Given the description of an element on the screen output the (x, y) to click on. 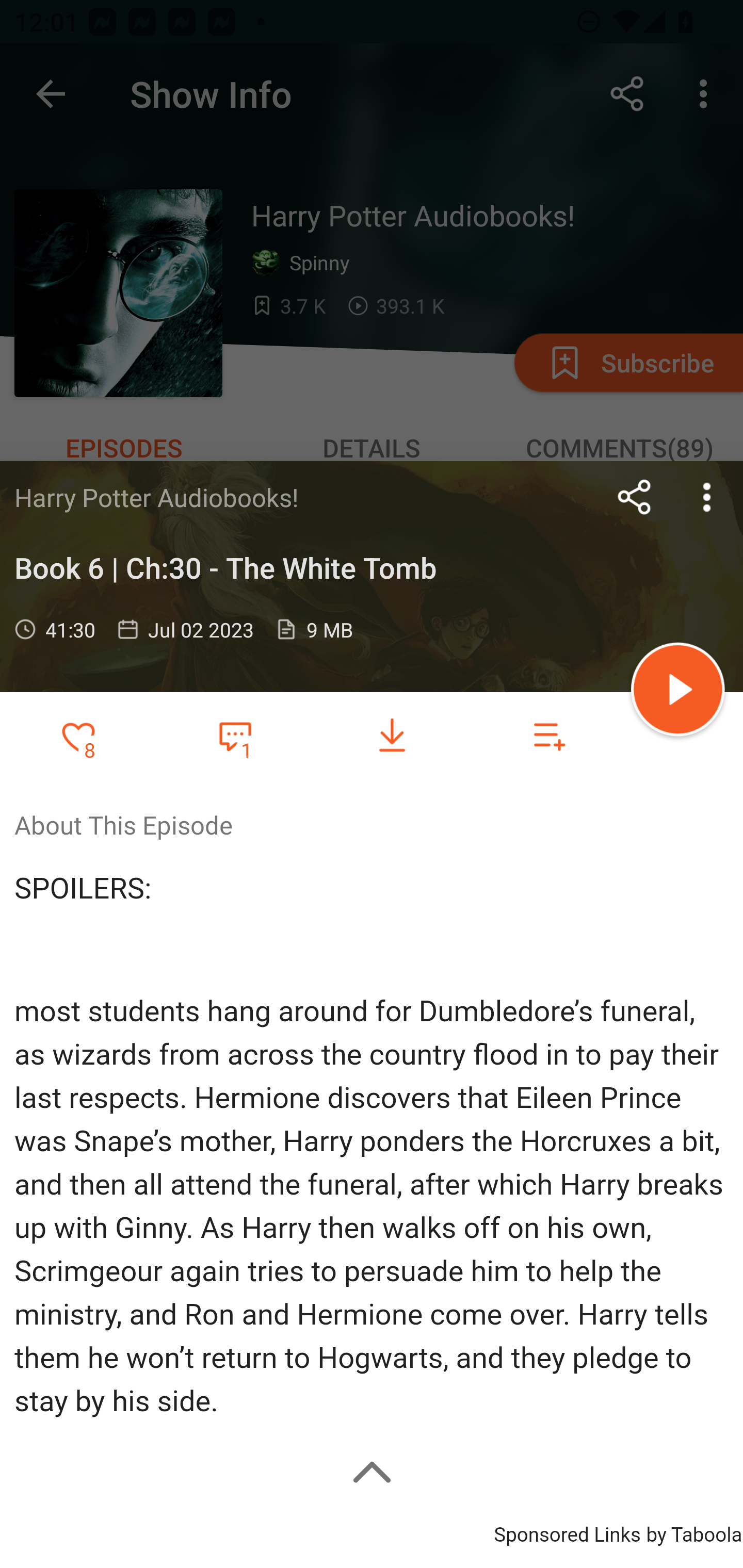
Share (634, 496)
more options (706, 496)
Play (677, 692)
1 Favorite (234, 735)
Add to Favorites (78, 735)
Download (391, 735)
Add to playlist (548, 735)
Sponsored Links (566, 1531)
by Taboola (693, 1531)
